Given the description of an element on the screen output the (x, y) to click on. 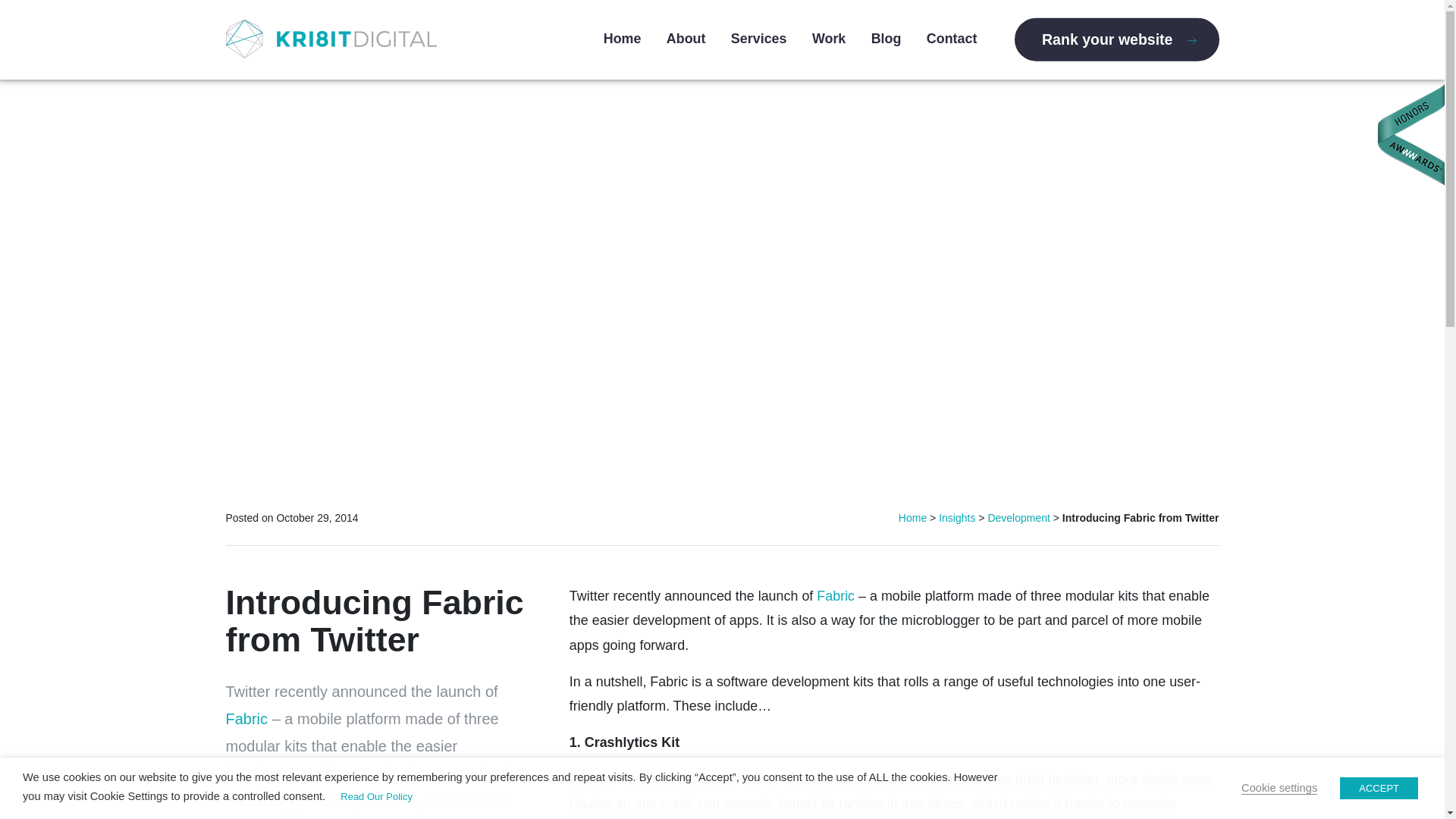
Insights (957, 517)
Contact (951, 37)
ACCEPT (1378, 788)
Fabric (835, 595)
Home (623, 37)
Blog (885, 37)
Work (828, 37)
Cookie settings (1279, 788)
Fabric (246, 718)
Rank your website (1116, 38)
Development (1018, 517)
Read Our Policy (377, 796)
Services (758, 37)
Home (912, 517)
About (686, 37)
